Given the description of an element on the screen output the (x, y) to click on. 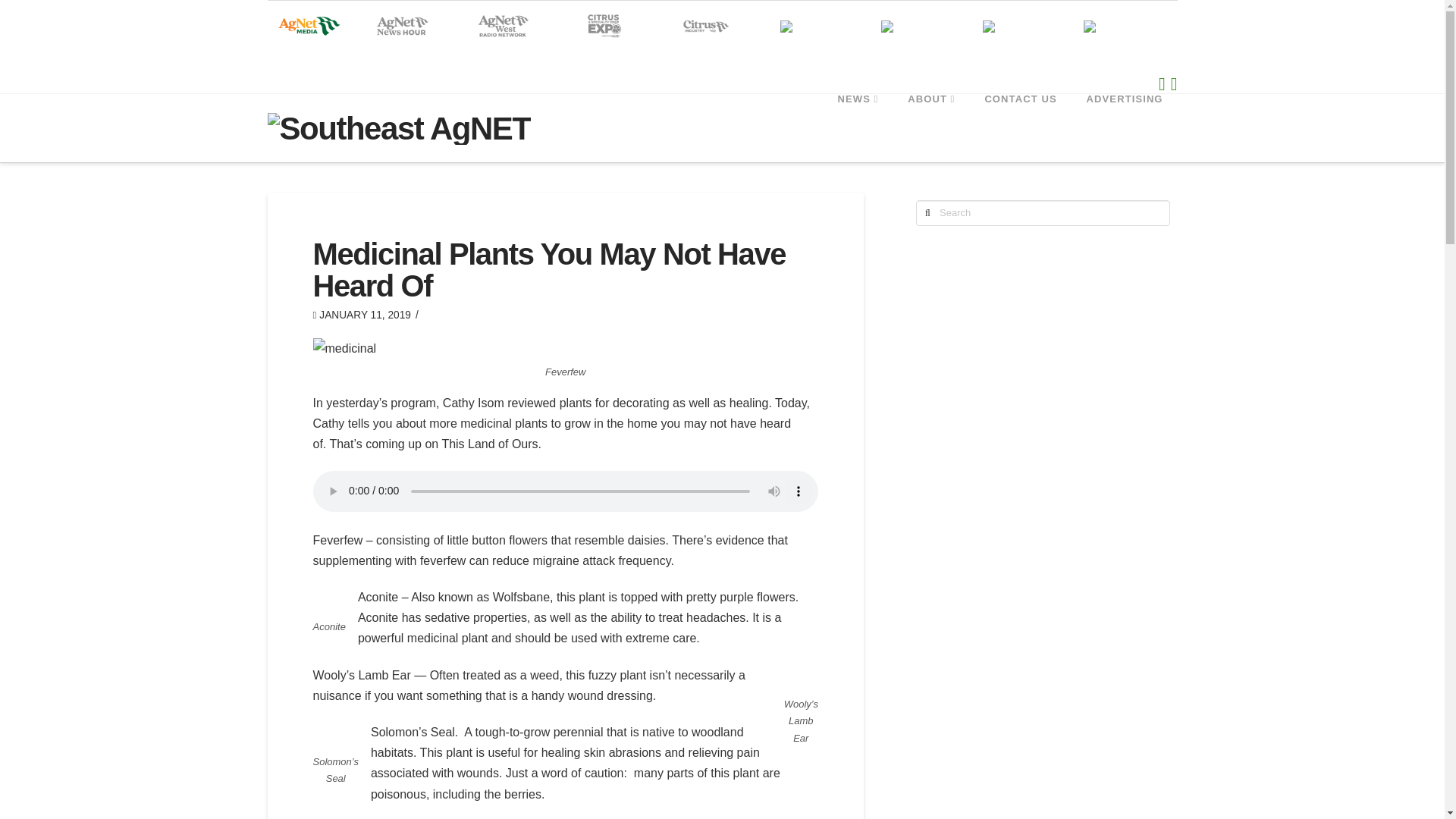
CONTACT US (1019, 128)
ABOUT (930, 128)
NEWS (857, 128)
ADVERTISING (1124, 128)
